Given the description of an element on the screen output the (x, y) to click on. 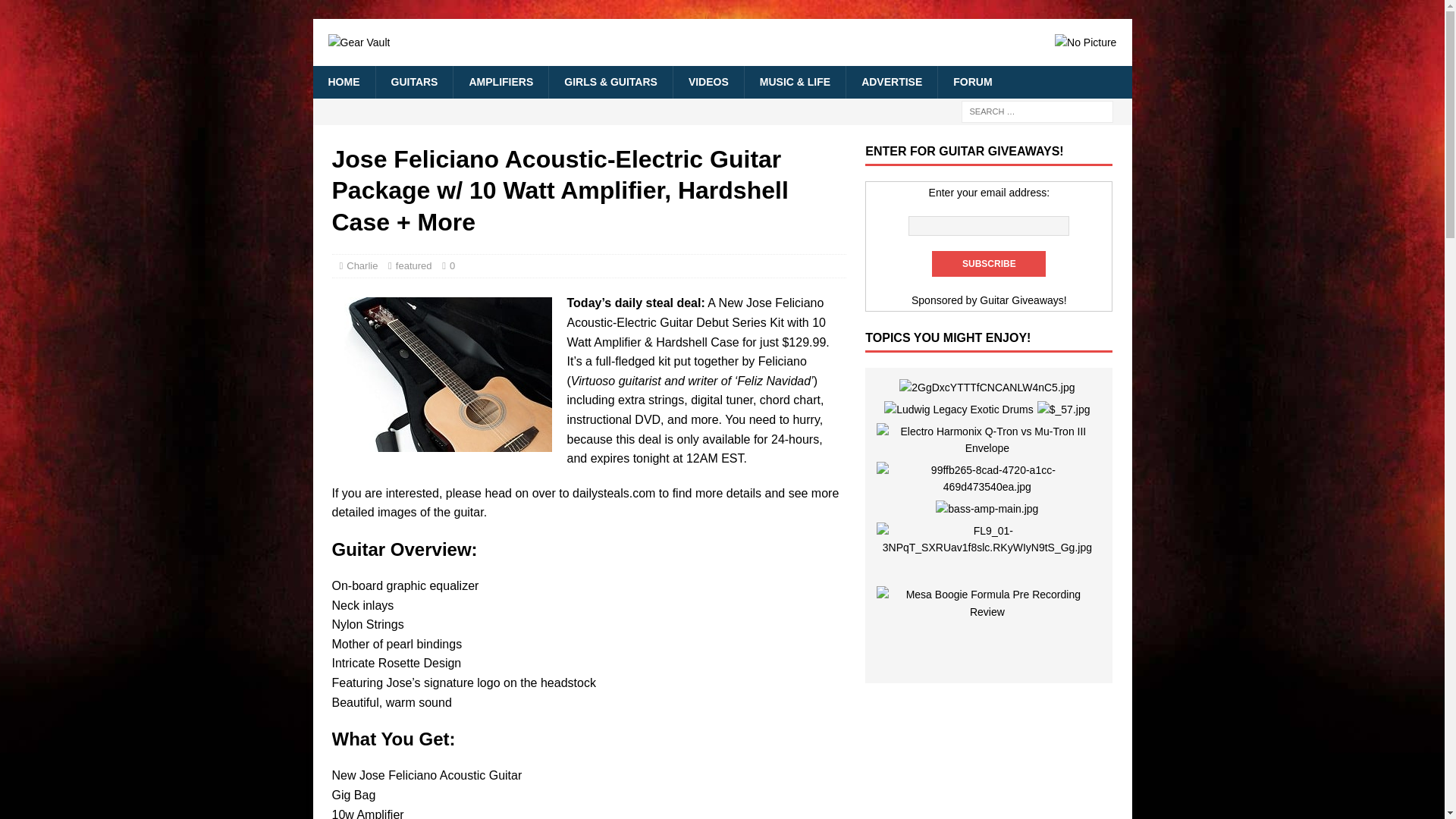
Search (56, 11)
GUITARS (413, 81)
VIDEOS (708, 81)
featured (414, 265)
ADVERTISE (891, 81)
FORUM (972, 81)
Subscribe (988, 263)
Charlie (361, 265)
HOME (343, 81)
Acoustic Electric Guitar Package (441, 374)
AMPLIFIERS (500, 81)
